Given the description of an element on the screen output the (x, y) to click on. 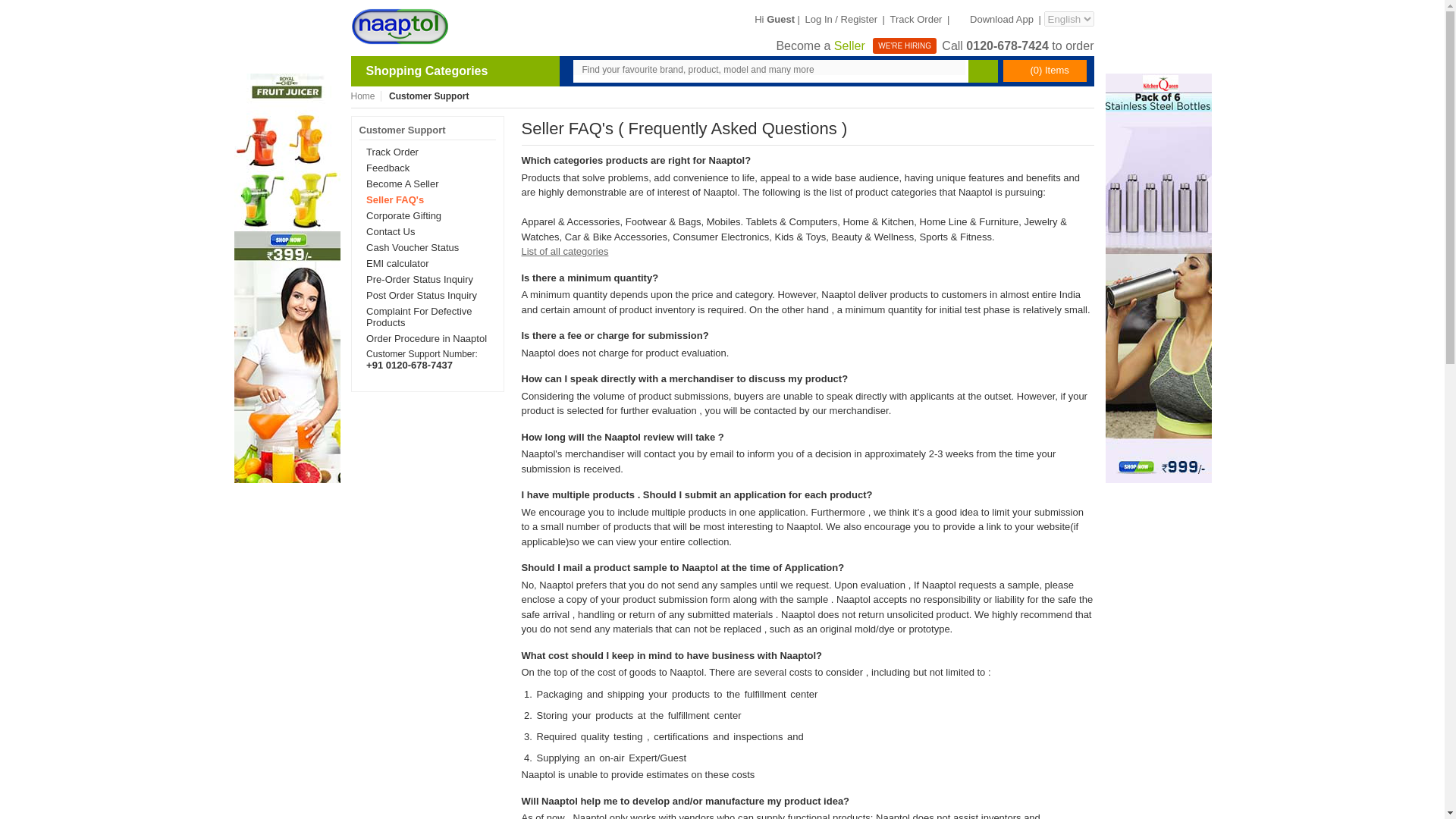
Online Shopping in India (399, 26)
WE'RE HIRING (904, 45)
Download App (993, 19)
Become a Seller (821, 45)
Track Order (916, 19)
